Given the description of an element on the screen output the (x, y) to click on. 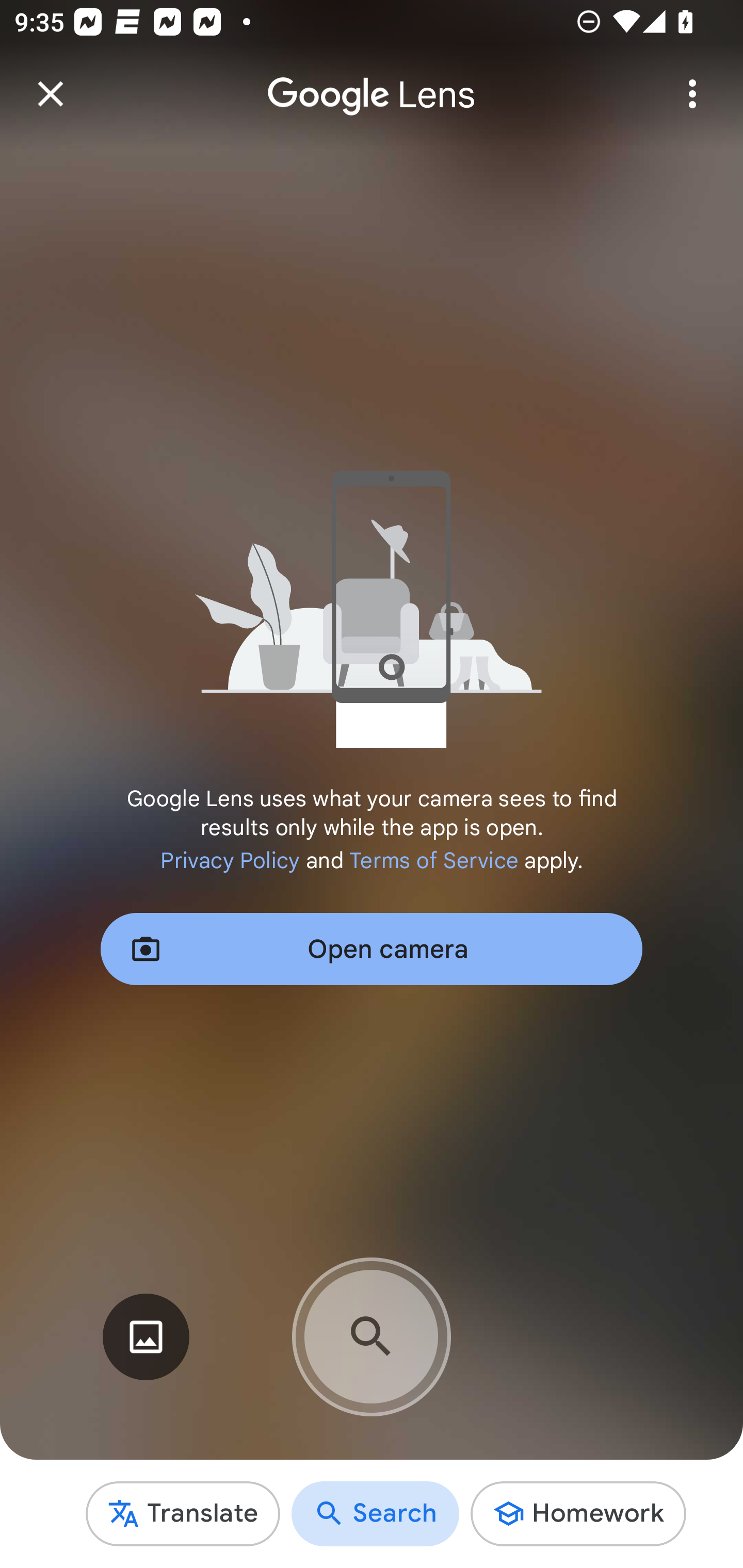
Google Lens Lens (371, 80)
Close (50, 94)
More options (692, 94)
Open camera (371, 949)
Camera search (371, 1336)
Select an image from gallery (145, 1336)
Translate Switch to Translate mode (183, 1513)
Search Switch to Search mode (375, 1513)
Homework Switch to Homework mode (578, 1513)
